Given the description of an element on the screen output the (x, y) to click on. 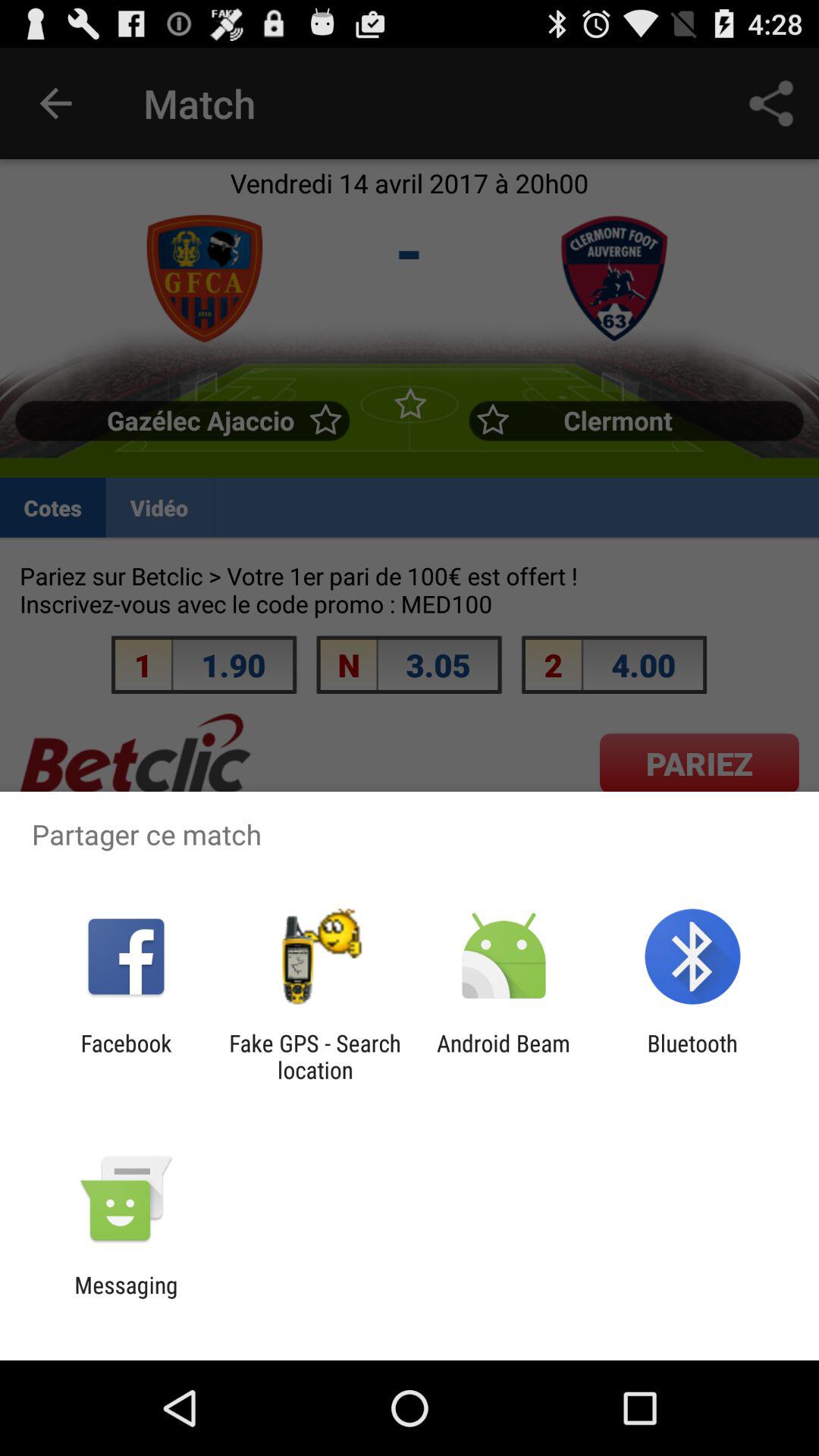
scroll until fake gps search item (314, 1056)
